Given the description of an element on the screen output the (x, y) to click on. 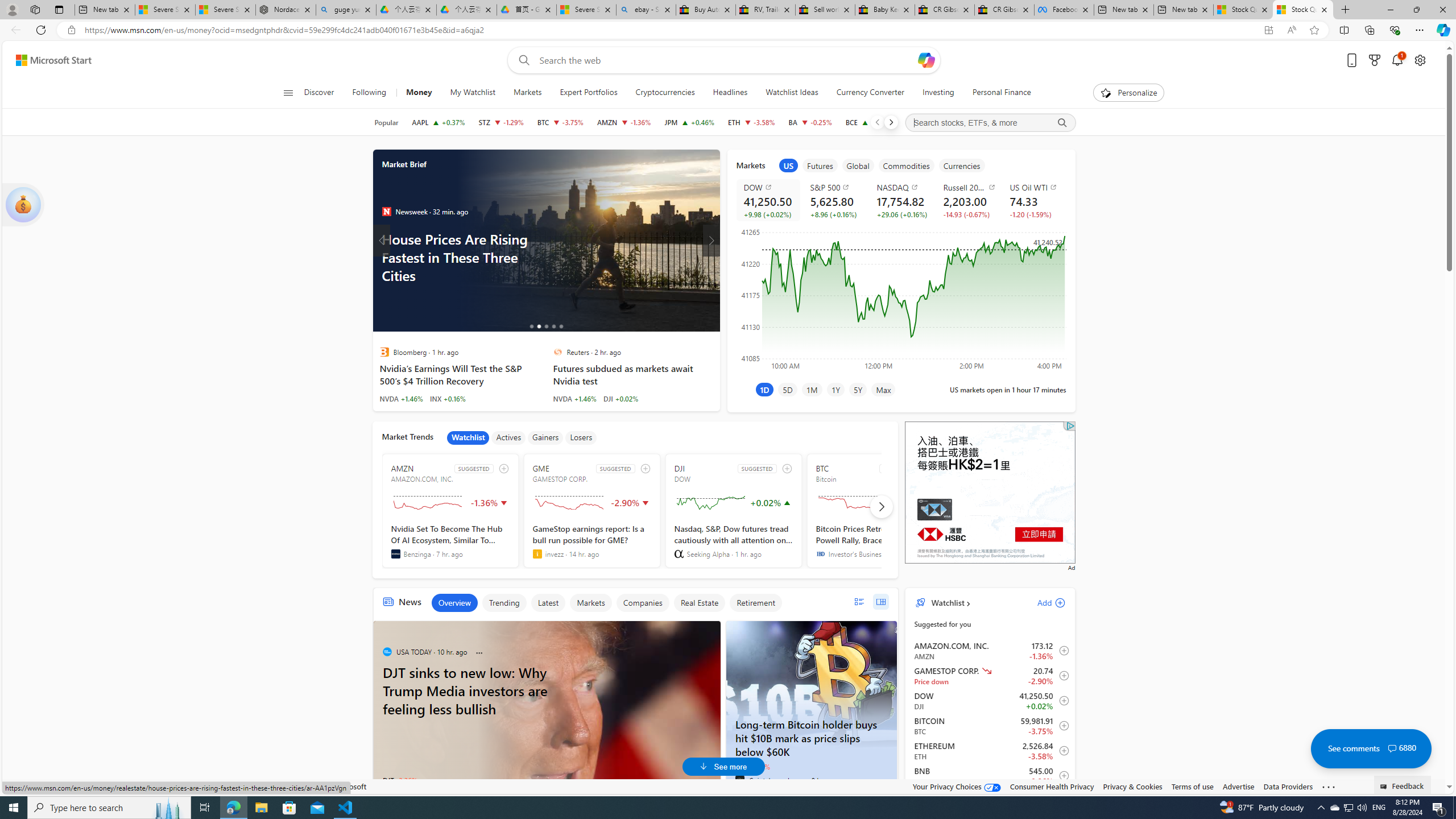
Bloomberg (384, 351)
Global (857, 164)
BA THE BOEING COMPANY decrease 173.05 -0.43 -0.25% (809, 122)
5D (787, 389)
Losers (580, 437)
Advertise (1238, 786)
Personal Finance (996, 92)
Class: qc-adchoices-icon (1069, 425)
Buy Auto Parts & Accessories | eBay (706, 9)
Companies (642, 602)
App available. Install Start Money (1268, 29)
